Given the description of an element on the screen output the (x, y) to click on. 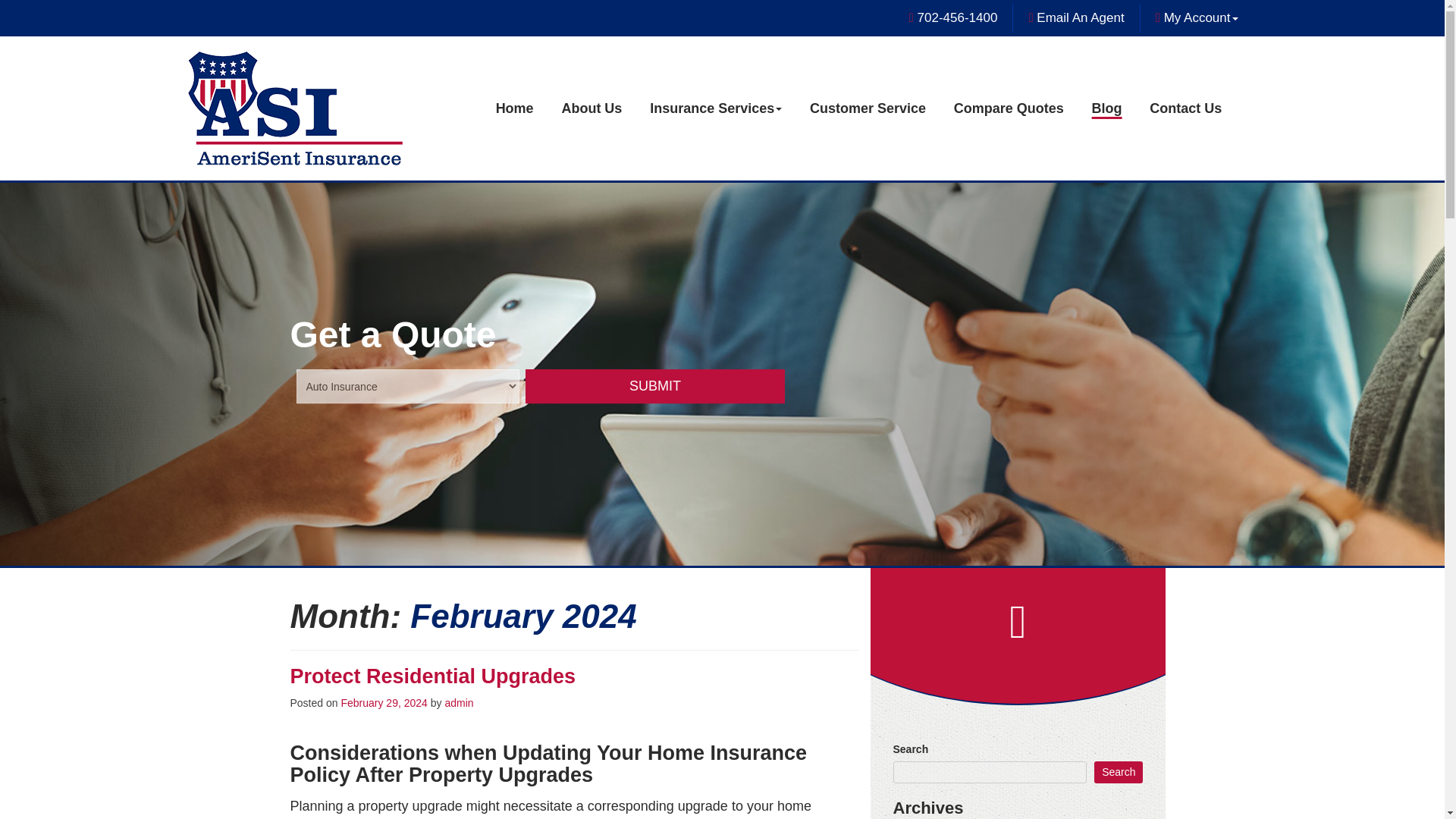
My Account (1201, 17)
Compare Quotes (1008, 108)
Insurance Services (715, 108)
Protect Residential Upgrades (432, 676)
Insurance Services (715, 108)
Home (515, 108)
admin (458, 703)
About Us (590, 108)
Blog (1107, 108)
My Account (1201, 17)
Email An Agent (1078, 17)
Contact Us (1185, 108)
SUBMIT (654, 386)
Las Vegas Insurance Agents (515, 108)
About AmeriSent Insurance (590, 108)
